Given the description of an element on the screen output the (x, y) to click on. 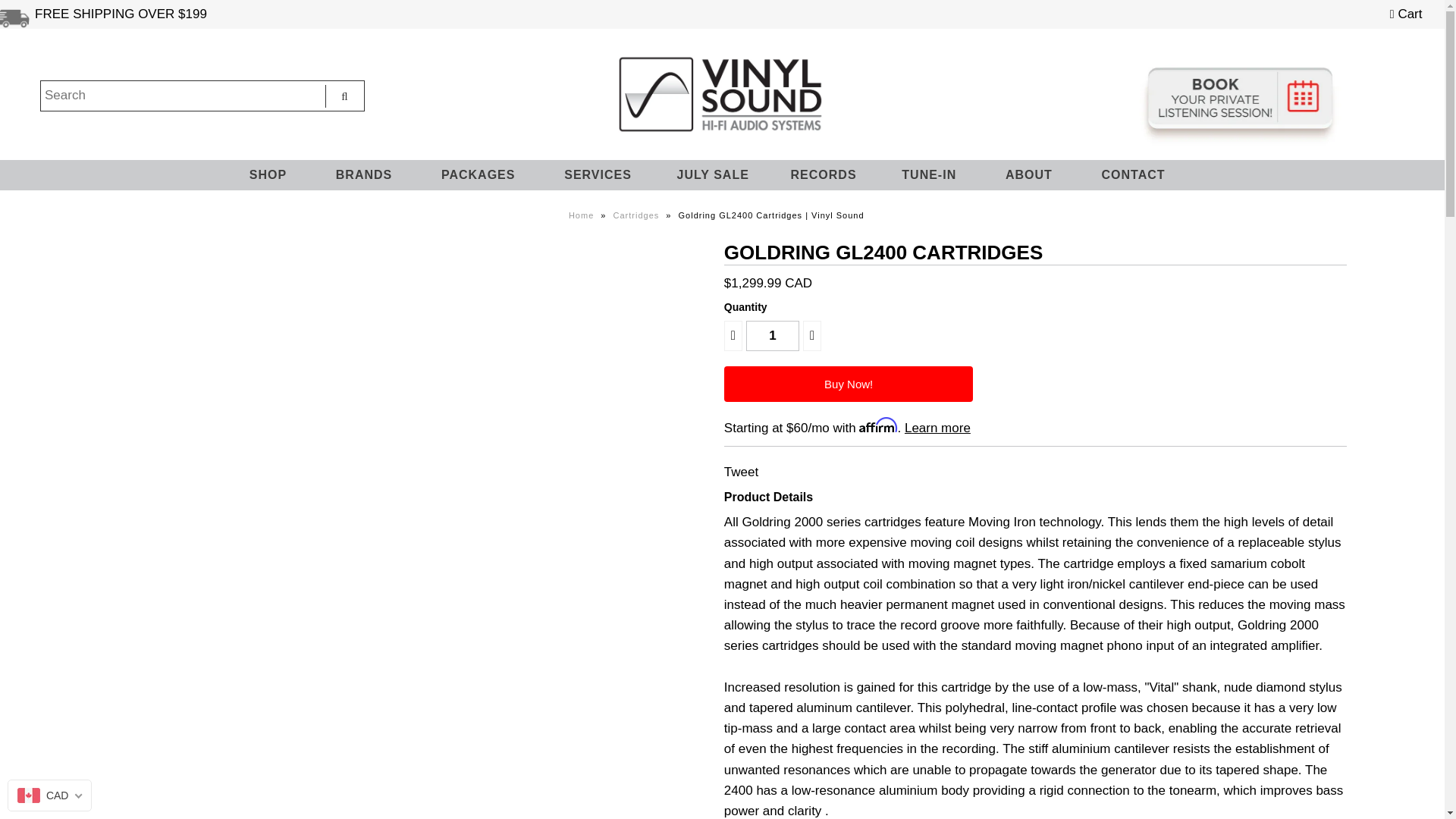
Cartridges (637, 215)
Buy Now! (848, 384)
Home (582, 215)
1 (772, 336)
